Given the description of an element on the screen output the (x, y) to click on. 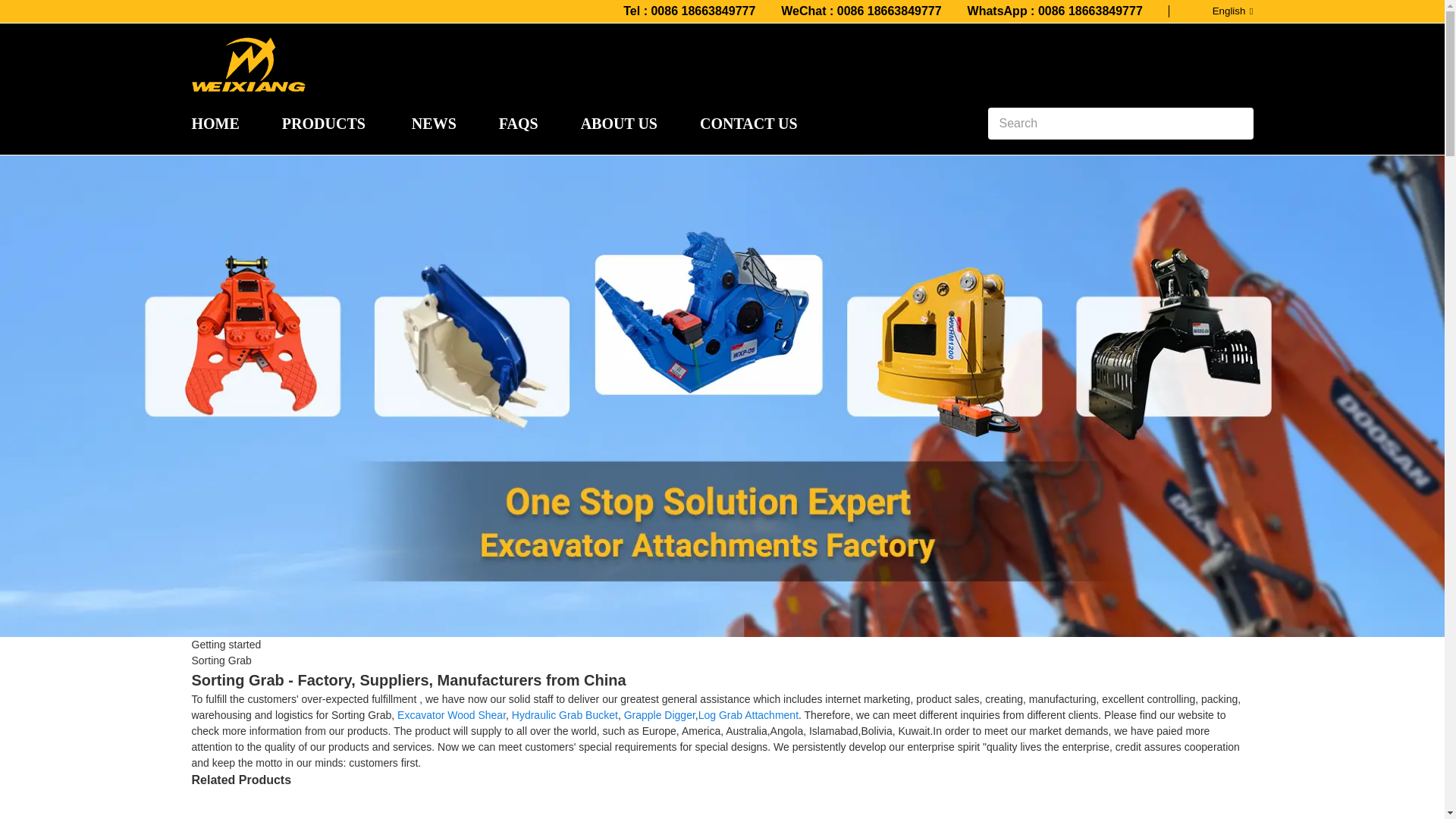
Grapple Digger (659, 715)
0086 18663849777 (702, 10)
English (1220, 10)
Hydraulic Grab Bucket (564, 715)
PRODUCTS (323, 123)
Excavator Wood Shear (451, 715)
CONTACT US (748, 123)
Log Grab Attachment (747, 715)
Grapple Digger (659, 715)
Sorting Grab (220, 660)
